Given the description of an element on the screen output the (x, y) to click on. 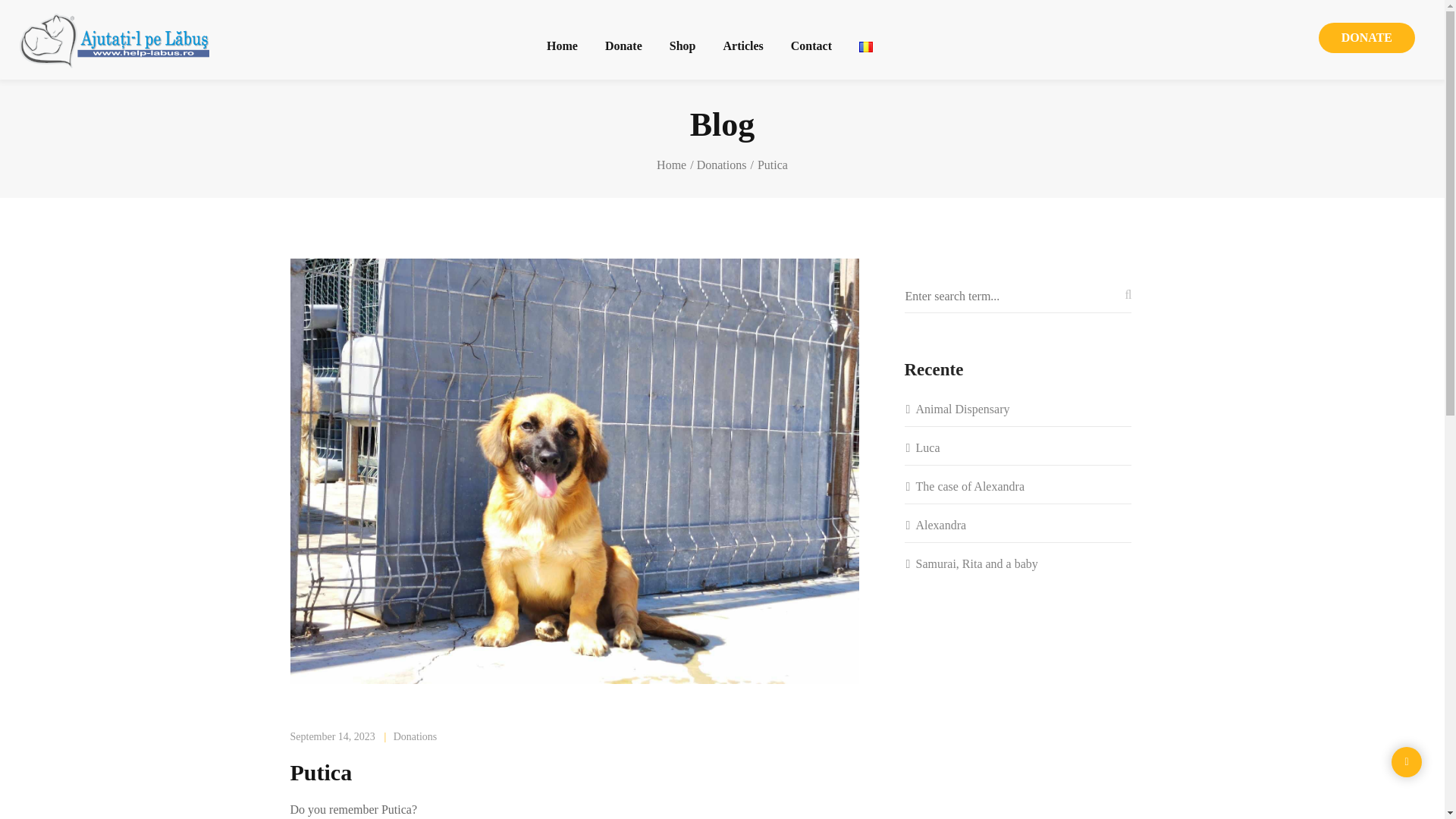
Contact (811, 43)
Donations (415, 736)
Home (675, 164)
The case of Alexandra (1017, 486)
Donations (725, 164)
Animal Dispensary (1017, 408)
Luca (1017, 447)
Samurai, Rita and a baby (1017, 563)
Donate (623, 43)
Articles (742, 43)
